Given the description of an element on the screen output the (x, y) to click on. 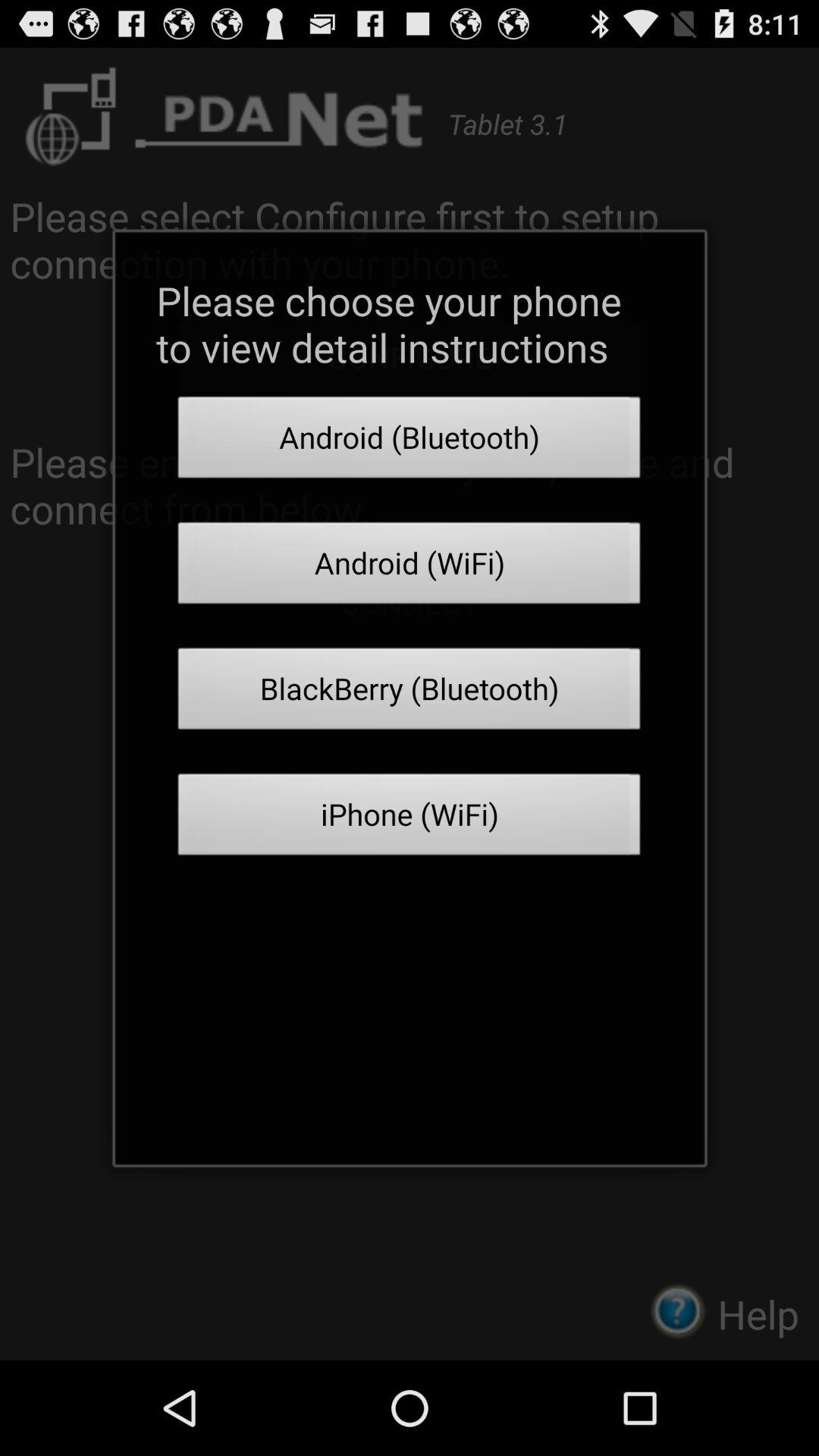
tap button below blackberry (bluetooth) item (409, 818)
